Given the description of an element on the screen output the (x, y) to click on. 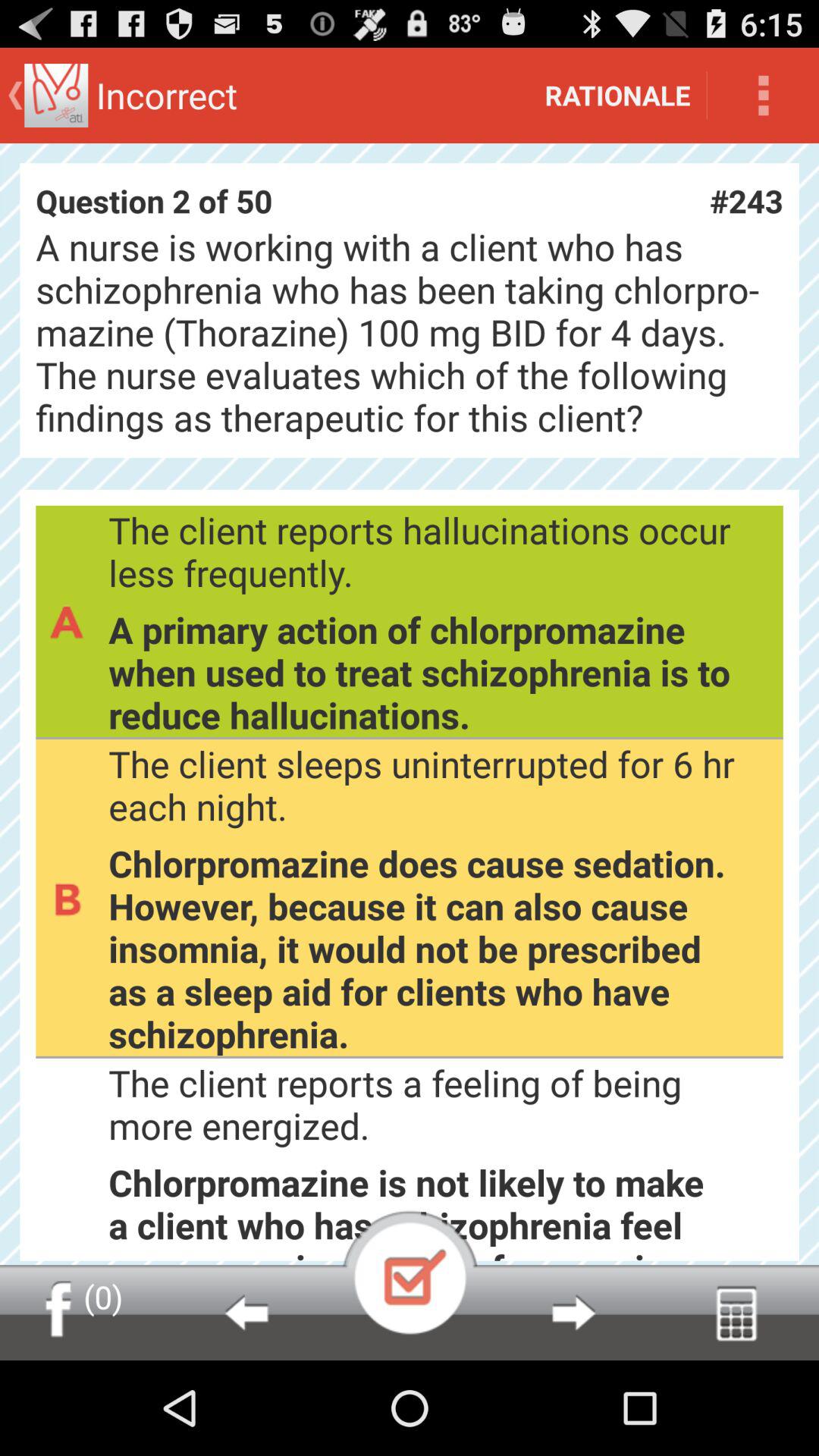
turn off item below the client reports icon (409, 1272)
